Given the description of an element on the screen output the (x, y) to click on. 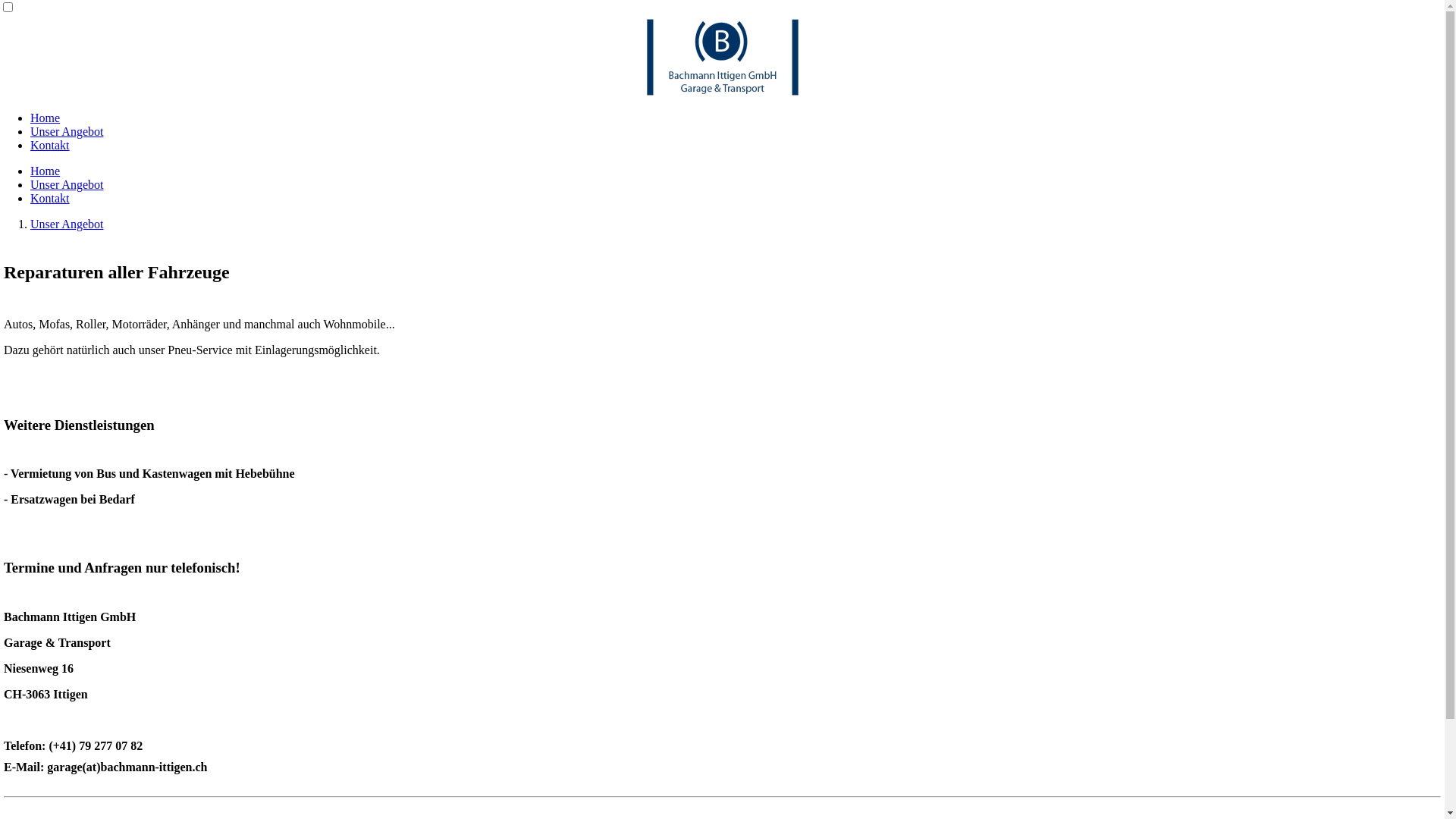
Kontakt Element type: text (49, 197)
Home Element type: text (44, 117)
Home Element type: text (44, 170)
Unser Angebot Element type: text (66, 184)
Kontakt Element type: text (49, 144)
Unser Angebot Element type: text (66, 131)
Unser Angebot Element type: text (66, 223)
